Given the description of an element on the screen output the (x, y) to click on. 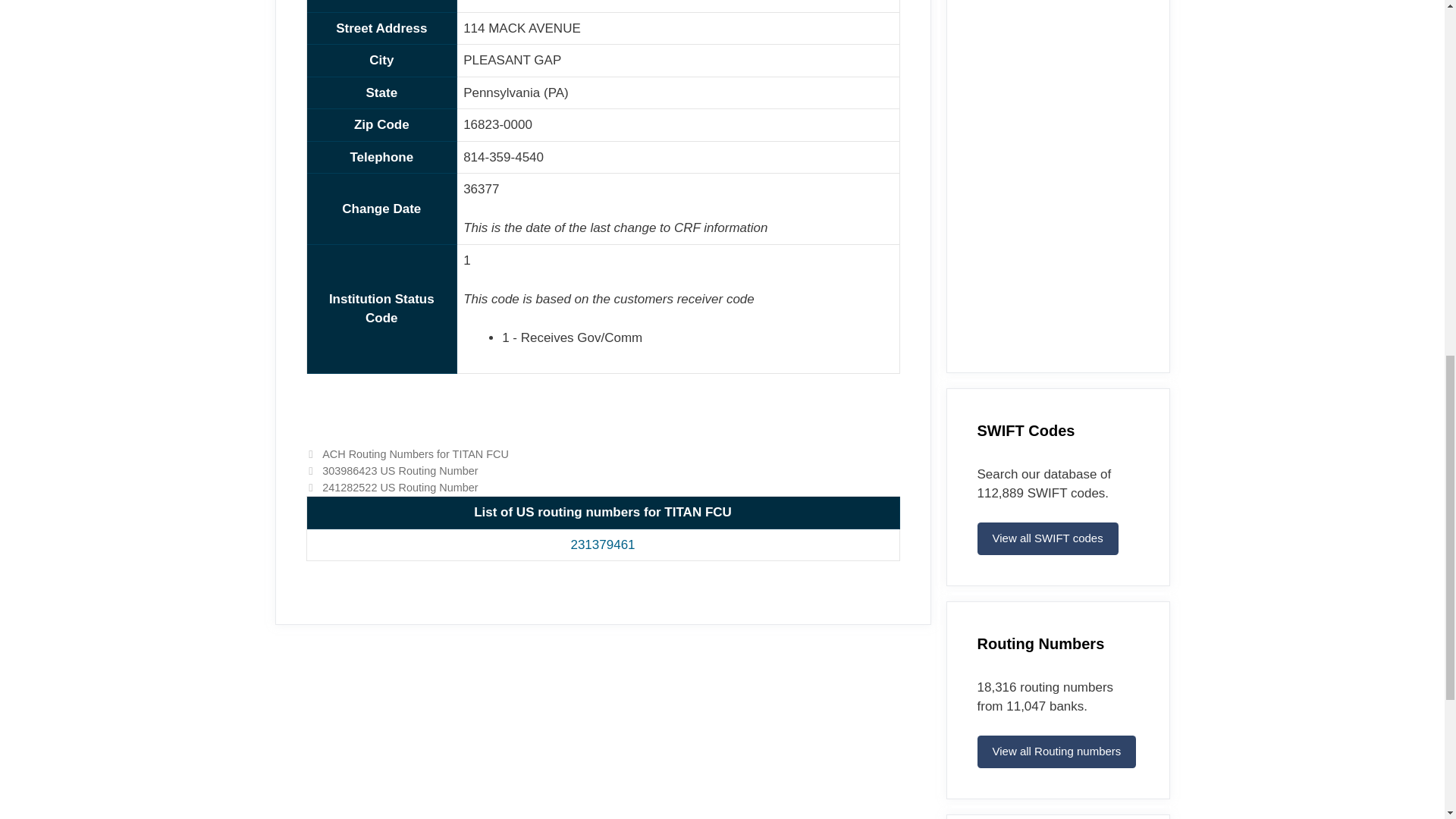
ACH Routing Numbers for TITAN FCU (414, 453)
241282522 US Routing Number (399, 487)
View all Routing numbers (1055, 751)
231379461 (602, 544)
303986423 US Routing Number (399, 470)
View all SWIFT codes (1047, 538)
